Given the description of an element on the screen output the (x, y) to click on. 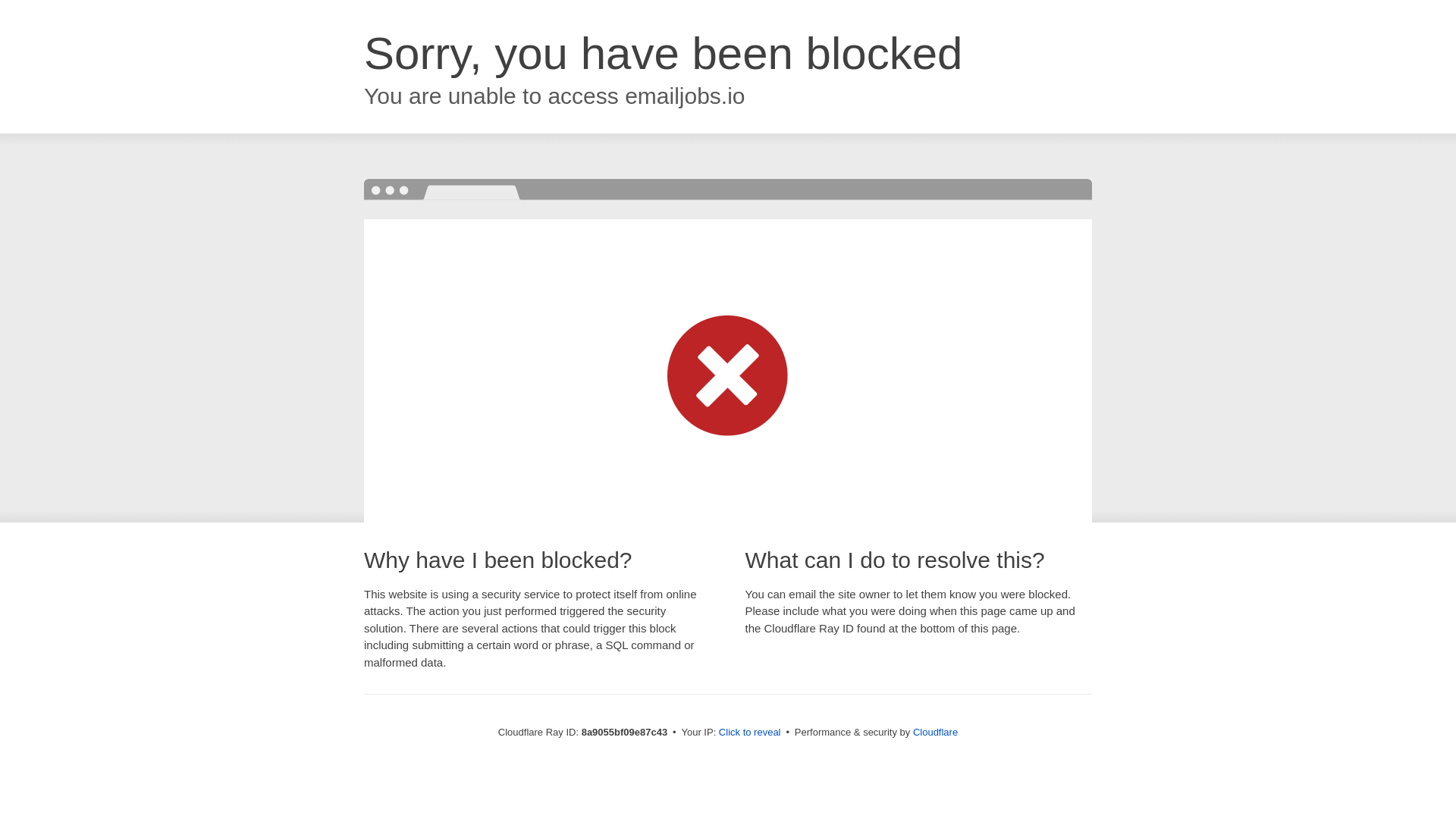
Click to reveal (749, 732)
Cloudflare (935, 731)
